Given the description of an element on the screen output the (x, y) to click on. 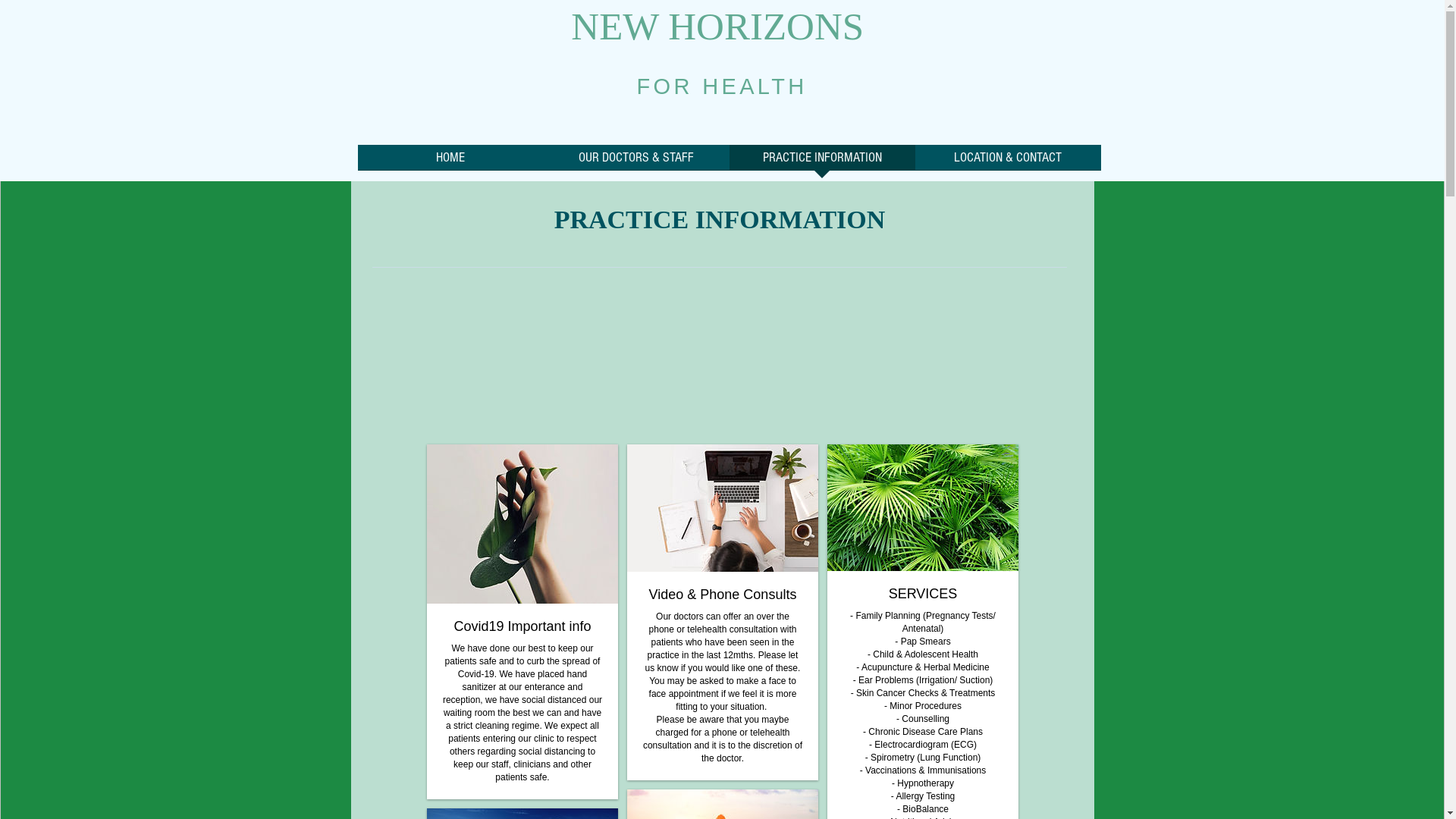
OUR DOCTORS & STAFF Element type: text (635, 161)
PRACTICE INFORMATION Element type: text (822, 161)
LOCATION & CONTACT Element type: text (1007, 161)
HOME Element type: text (450, 161)
